Given the description of an element on the screen output the (x, y) to click on. 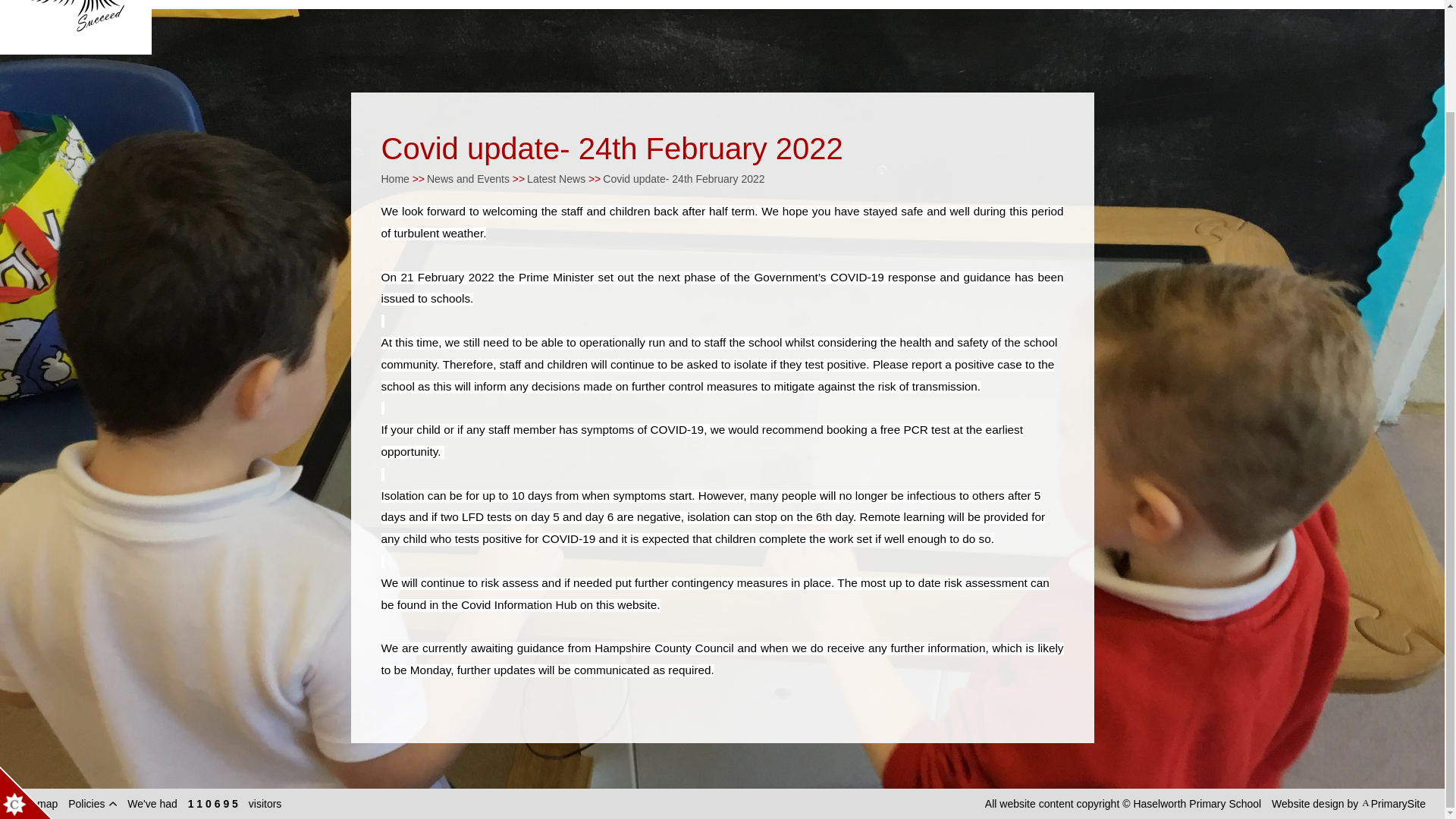
About Us (319, 4)
Home Page (75, 27)
